Given the description of an element on the screen output the (x, y) to click on. 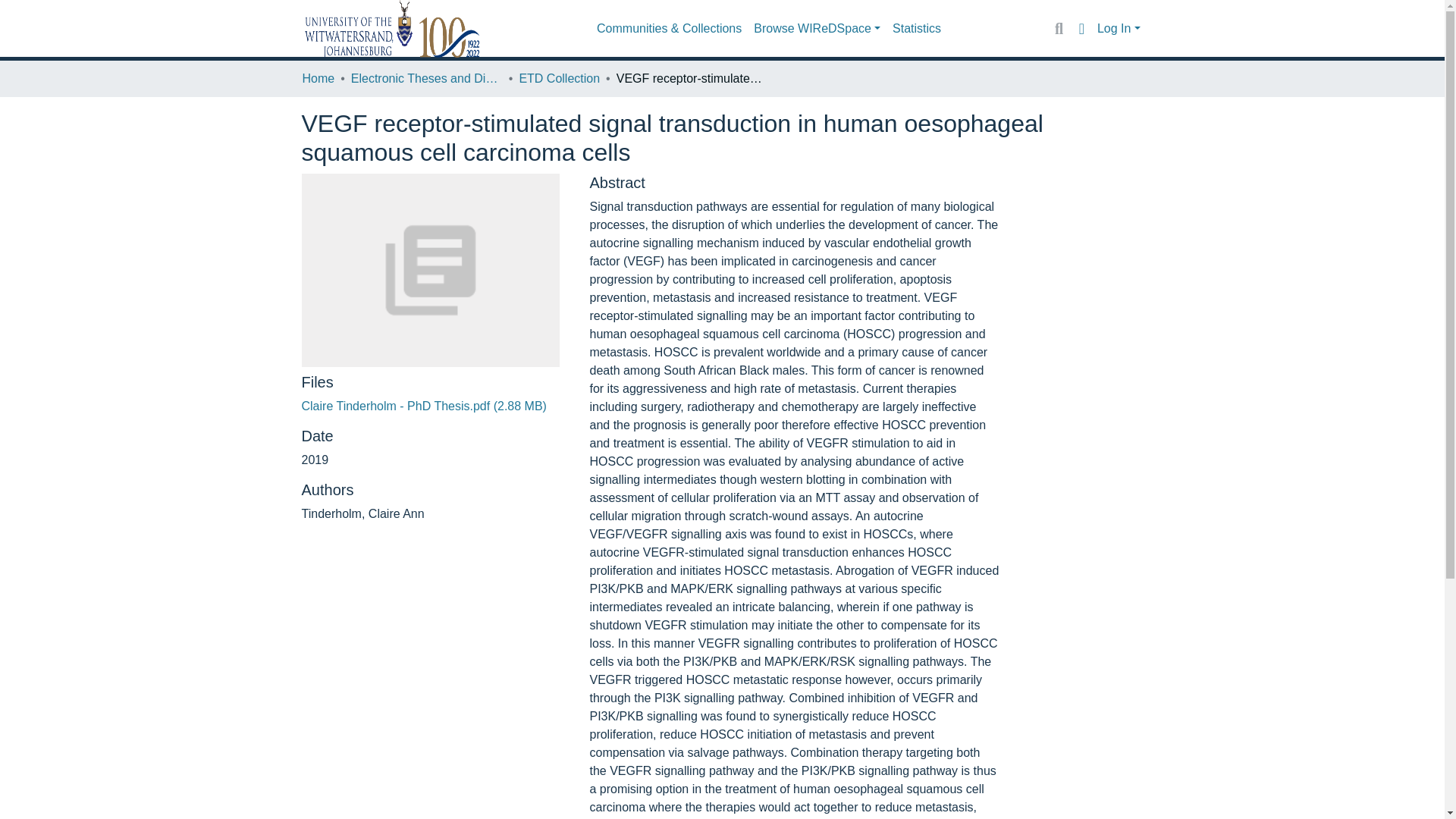
Search (1058, 28)
ETD Collection (558, 78)
Home (317, 78)
Language switch (1081, 28)
Statistics (916, 28)
Statistics (916, 28)
Browse WIReDSpace (817, 28)
Log In (1118, 28)
